Given the description of an element on the screen output the (x, y) to click on. 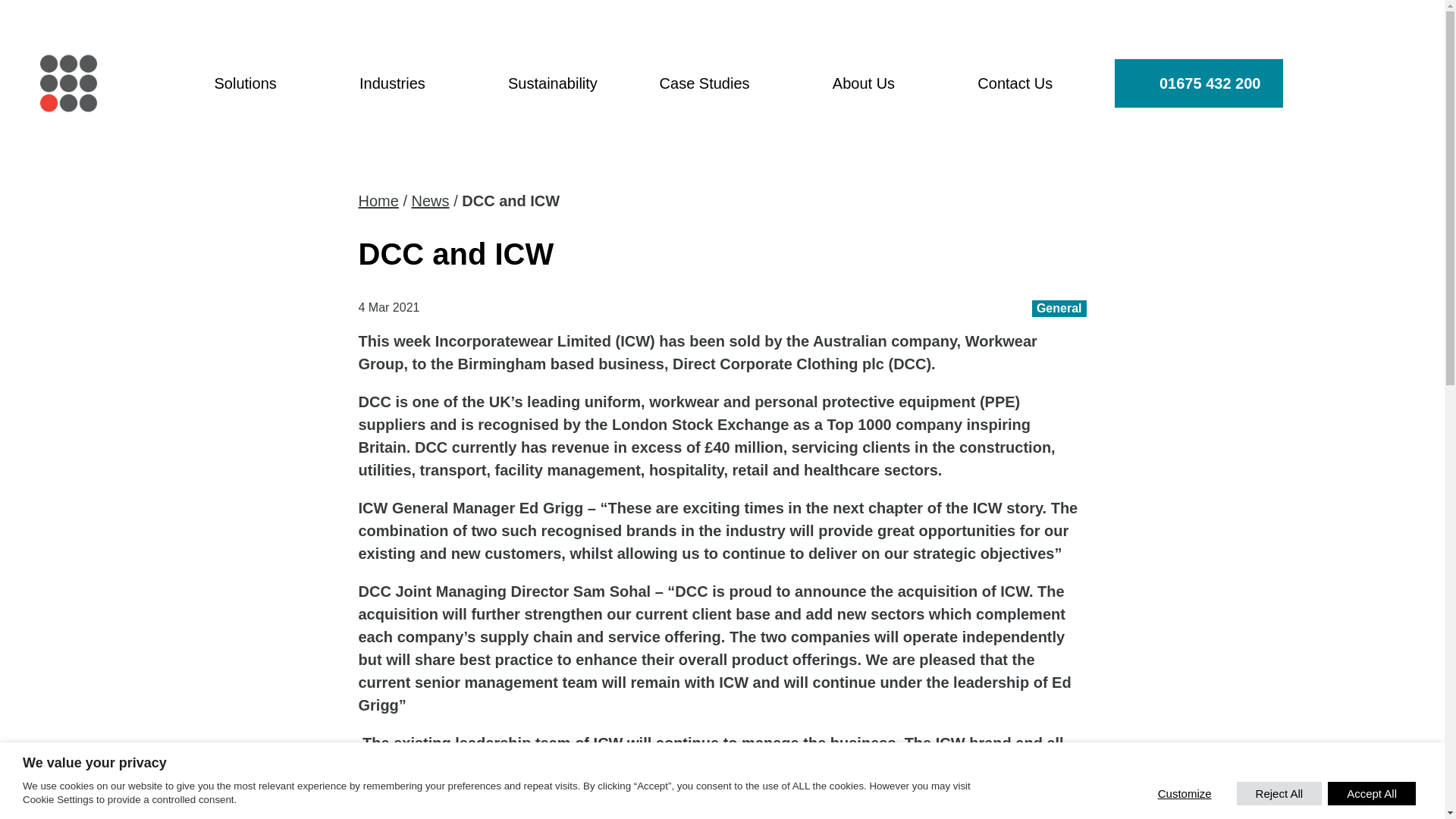
About Us (873, 83)
Industries (402, 83)
Sustainability (552, 83)
Solutions (255, 83)
Case Studies (715, 83)
